Given the description of an element on the screen output the (x, y) to click on. 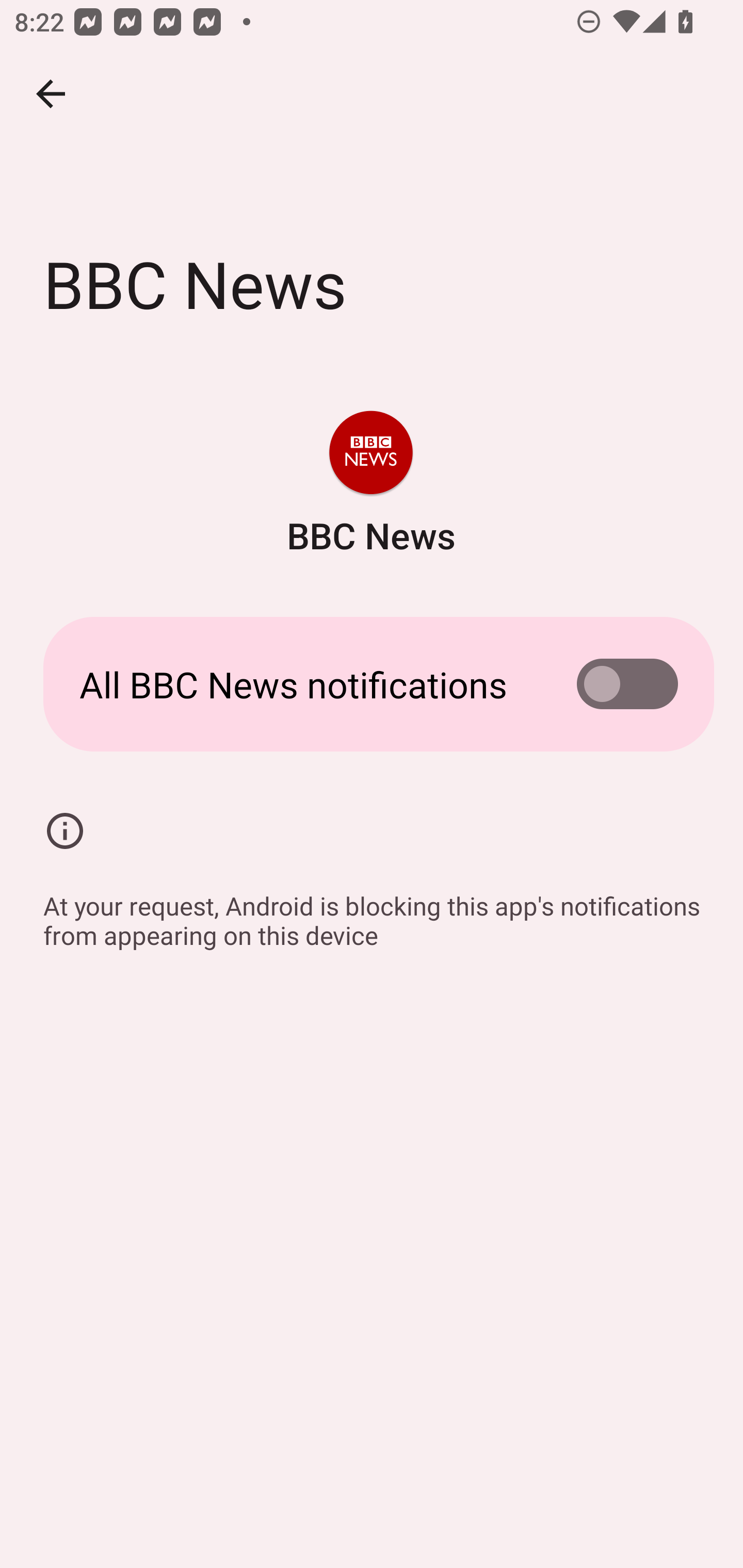
Navigate up (50, 93)
BBC News (370, 484)
All BBC News notifications (371, 684)
